Given the description of an element on the screen output the (x, y) to click on. 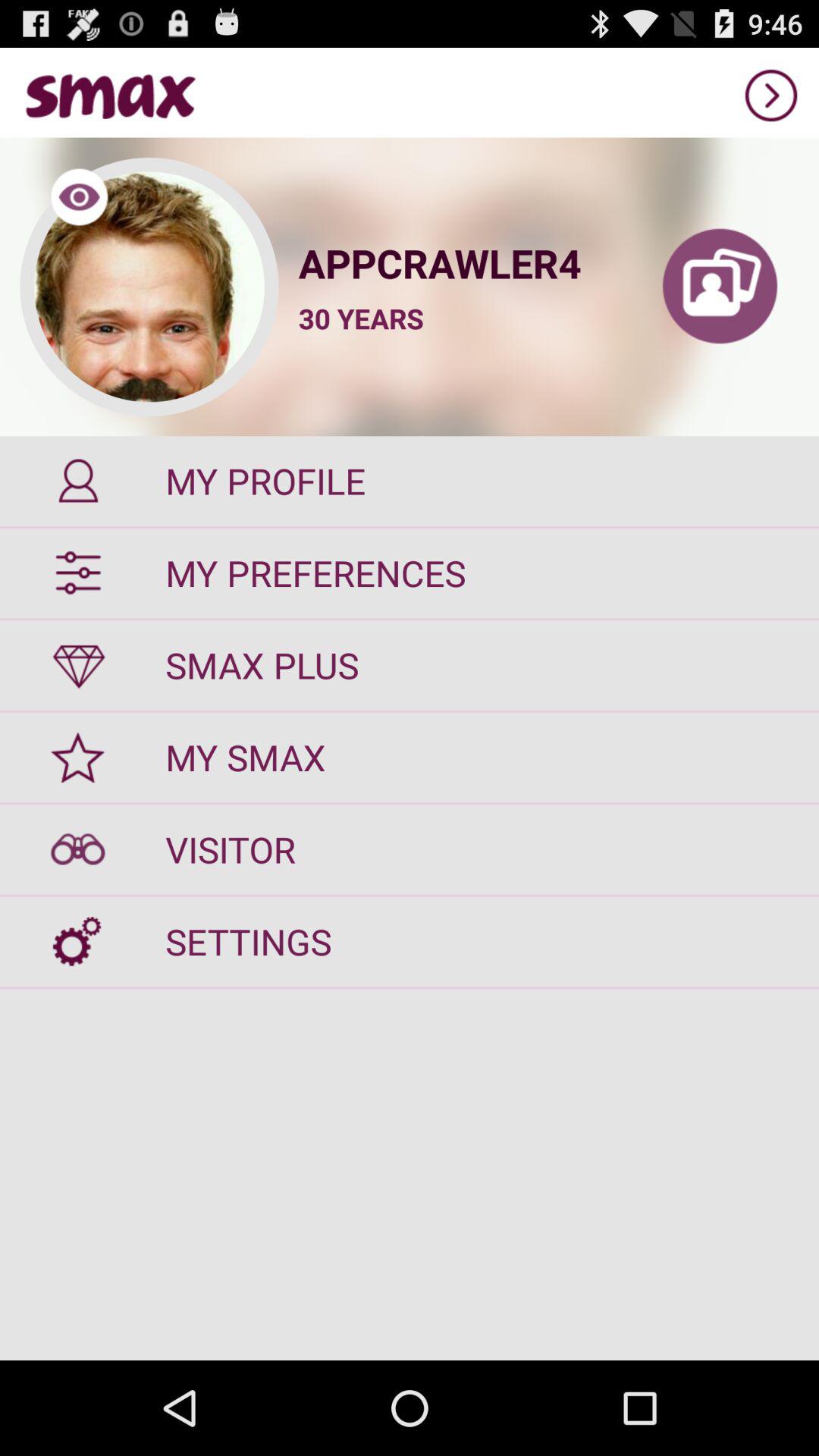
tap the app above 30 years icon (459, 262)
